Given the description of an element on the screen output the (x, y) to click on. 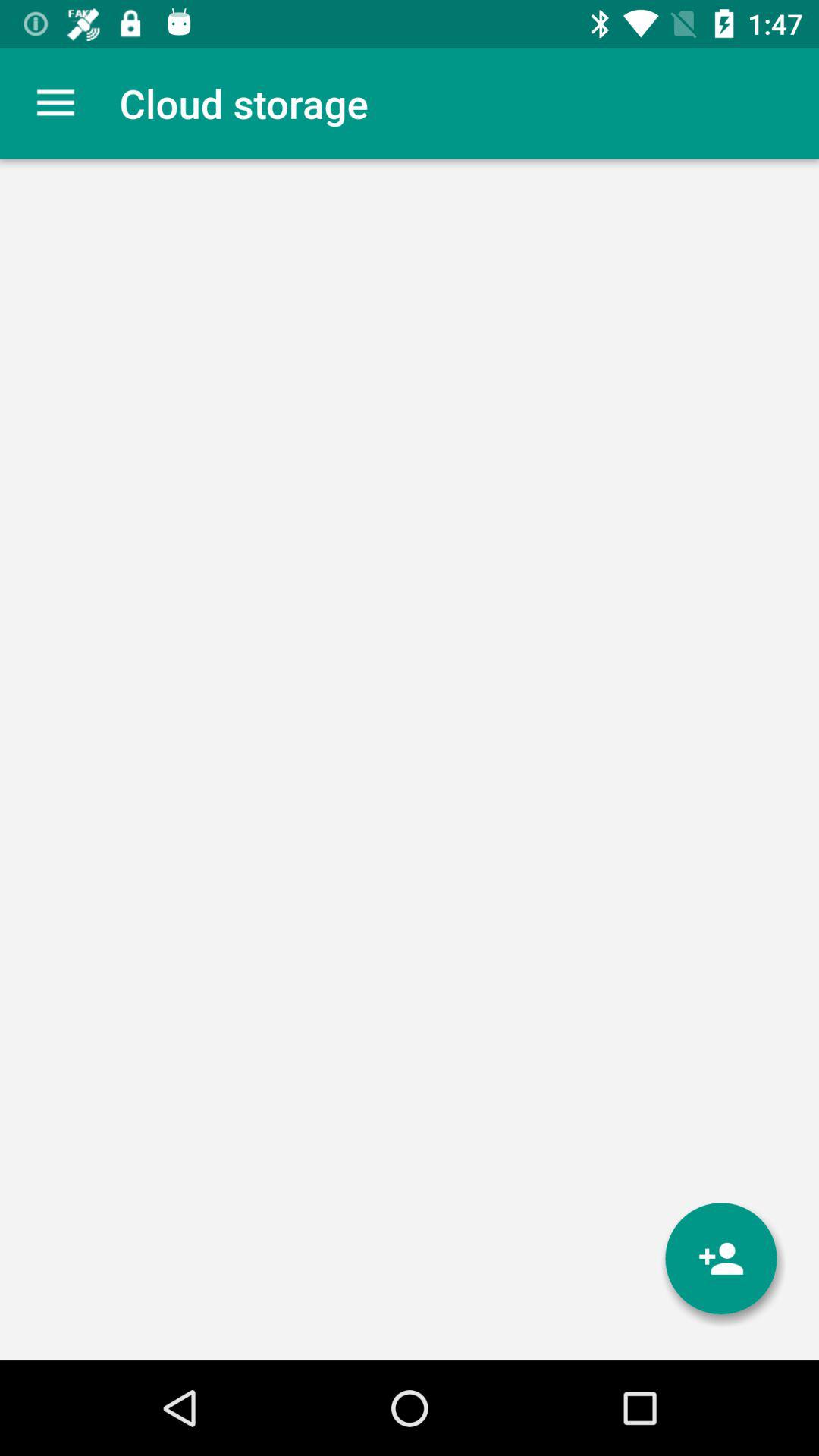
choose the item to the left of the cloud storage icon (55, 103)
